Given the description of an element on the screen output the (x, y) to click on. 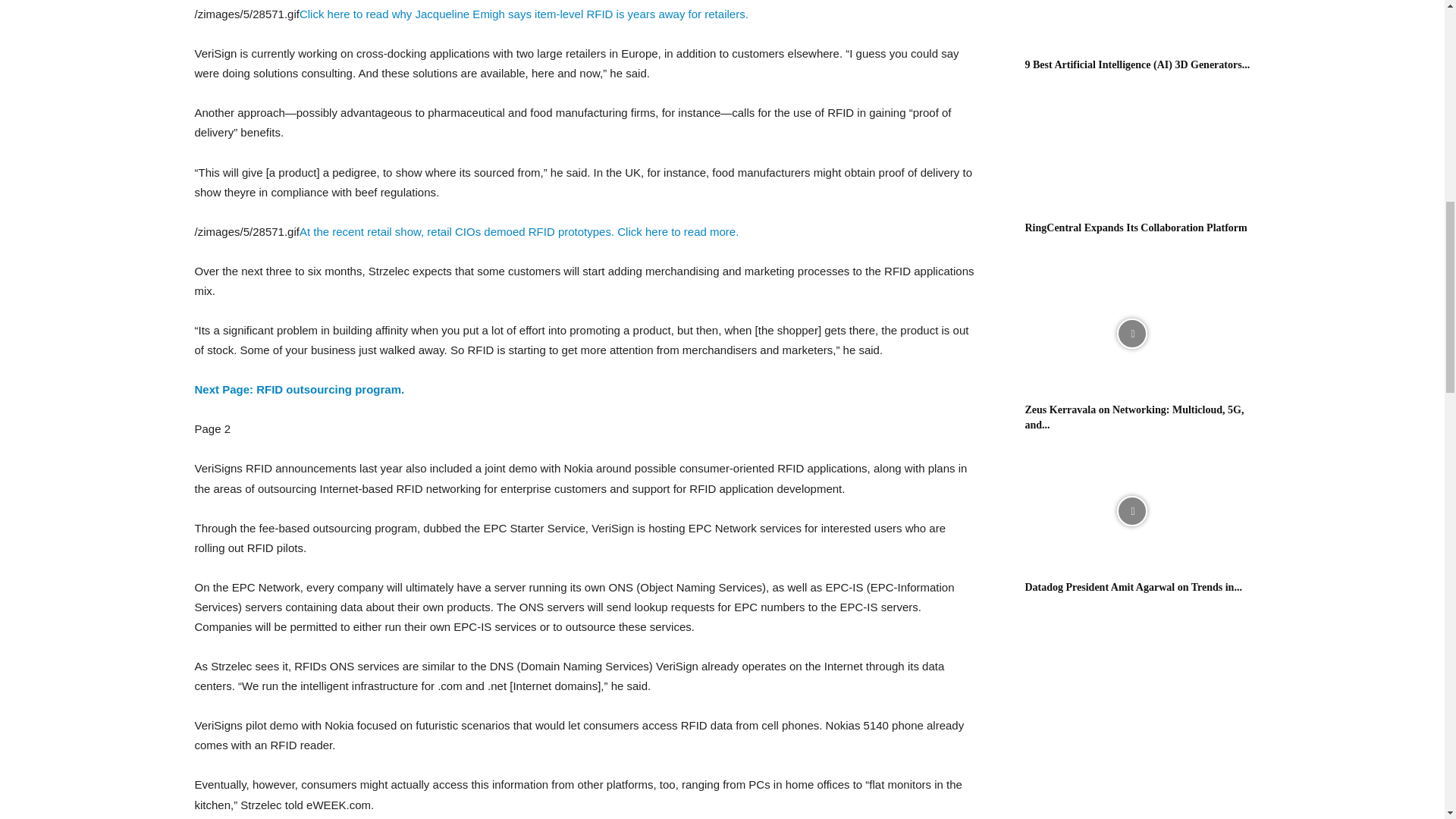
RingCentral Expands Its Collaboration Platform (1131, 151)
Zeus Kerravala on Networking: Multicloud, 5G, and Automation (1131, 333)
RingCentral Expands Its Collaboration Platform (1136, 227)
Zeus Kerravala on Networking: Multicloud, 5G, and Automation (1134, 417)
